Given the description of an element on the screen output the (x, y) to click on. 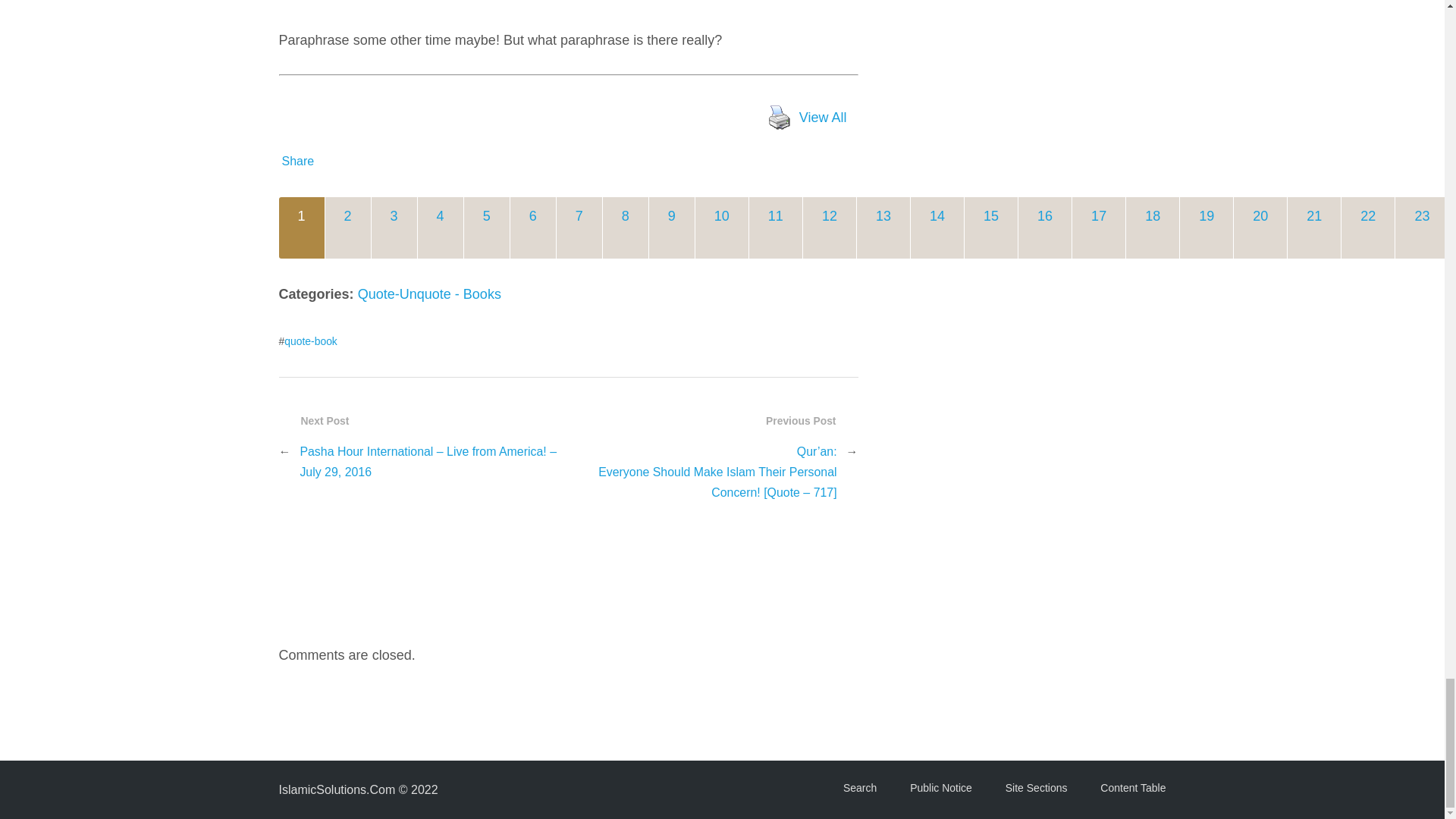
Print Content (778, 117)
